Given the description of an element on the screen output the (x, y) to click on. 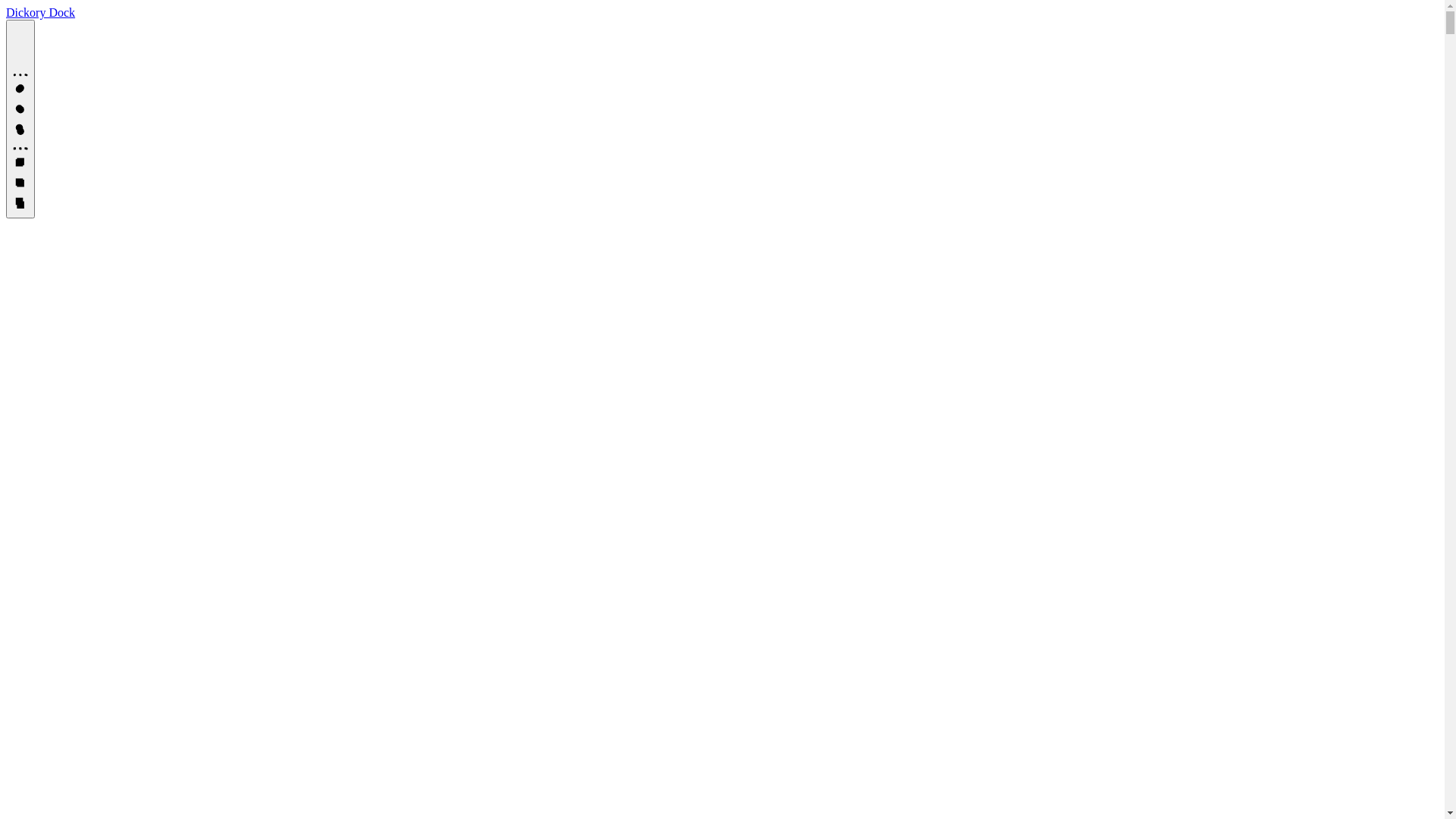
Dickory Dock Element type: text (40, 12)
